Given the description of an element on the screen output the (x, y) to click on. 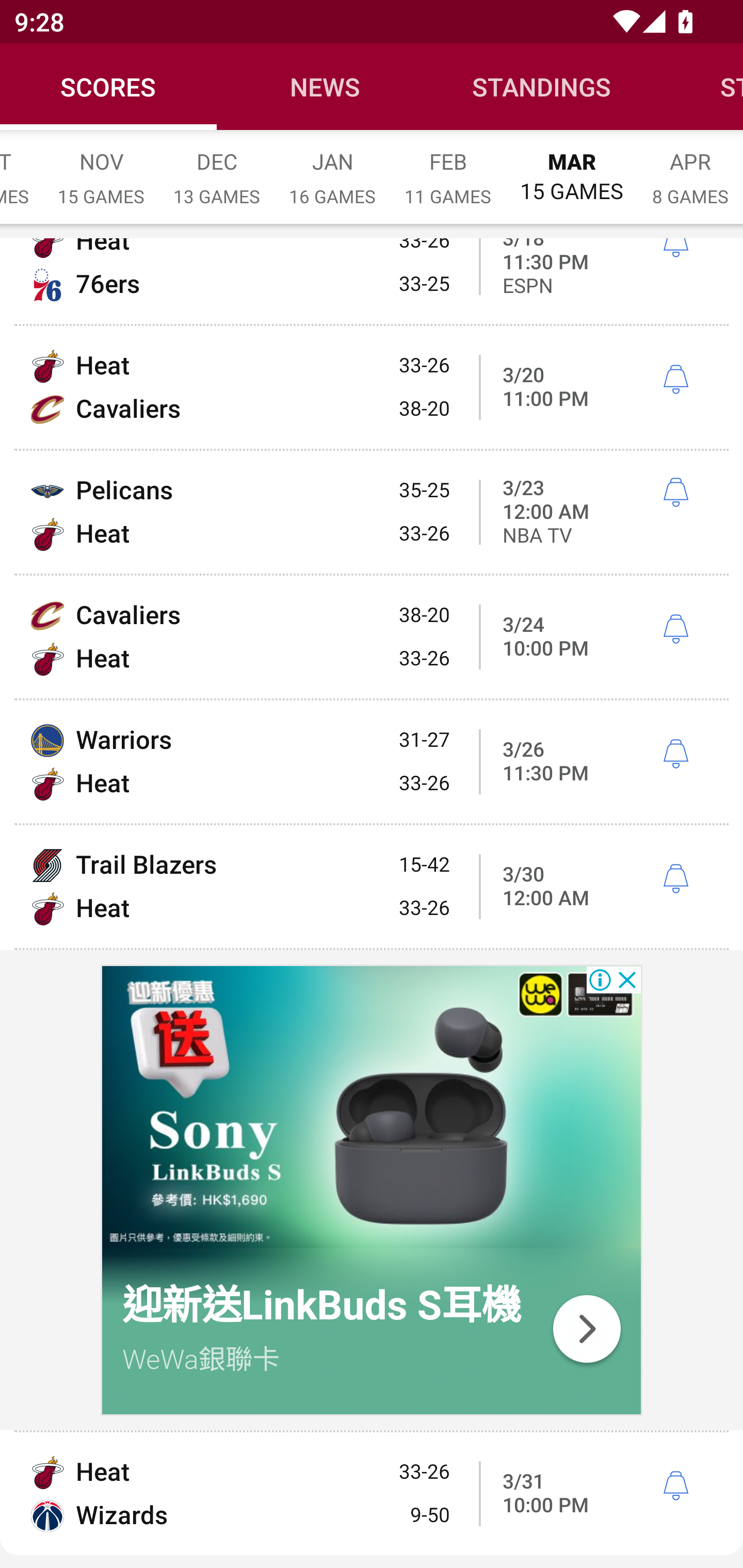
News NEWS (324, 86)
Standings STANDINGS (541, 86)
NOV 15 GAMES (101, 167)
DEC 13 GAMES (216, 167)
JAN 16 GAMES (332, 167)
FEB 11 GAMES (447, 167)
MAR 15 GAMES (571, 167)
APR 8 GAMES (690, 167)
Heat 33-26 76ers 33-25 3/18 11:30 PM í ESPN (371, 281)
í (675, 248)
Heat 33-26 Cavaliers 38-20 3/20 11:00 PM í (371, 387)
í (675, 379)
Pelicans 35-25 Heat 33-26 3/23 12:00 AM í NBA TV (371, 512)
í (675, 492)
Cavaliers 38-20 Heat 33-26 3/24 10:00 PM í (371, 636)
í (675, 629)
Warriors 31-27 Heat 33-26 3/26 11:30 PM í (371, 761)
í (675, 753)
Trail Blazers 15-42 Heat 33-26 3/30 12:00 AM í (371, 886)
í (675, 878)
B20396891 (371, 1110)
B20396891 (586, 1327)
Heat 33-26 Wizards 9-50 3/31 10:00 PM í (371, 1493)
í (675, 1486)
